Given the description of an element on the screen output the (x, y) to click on. 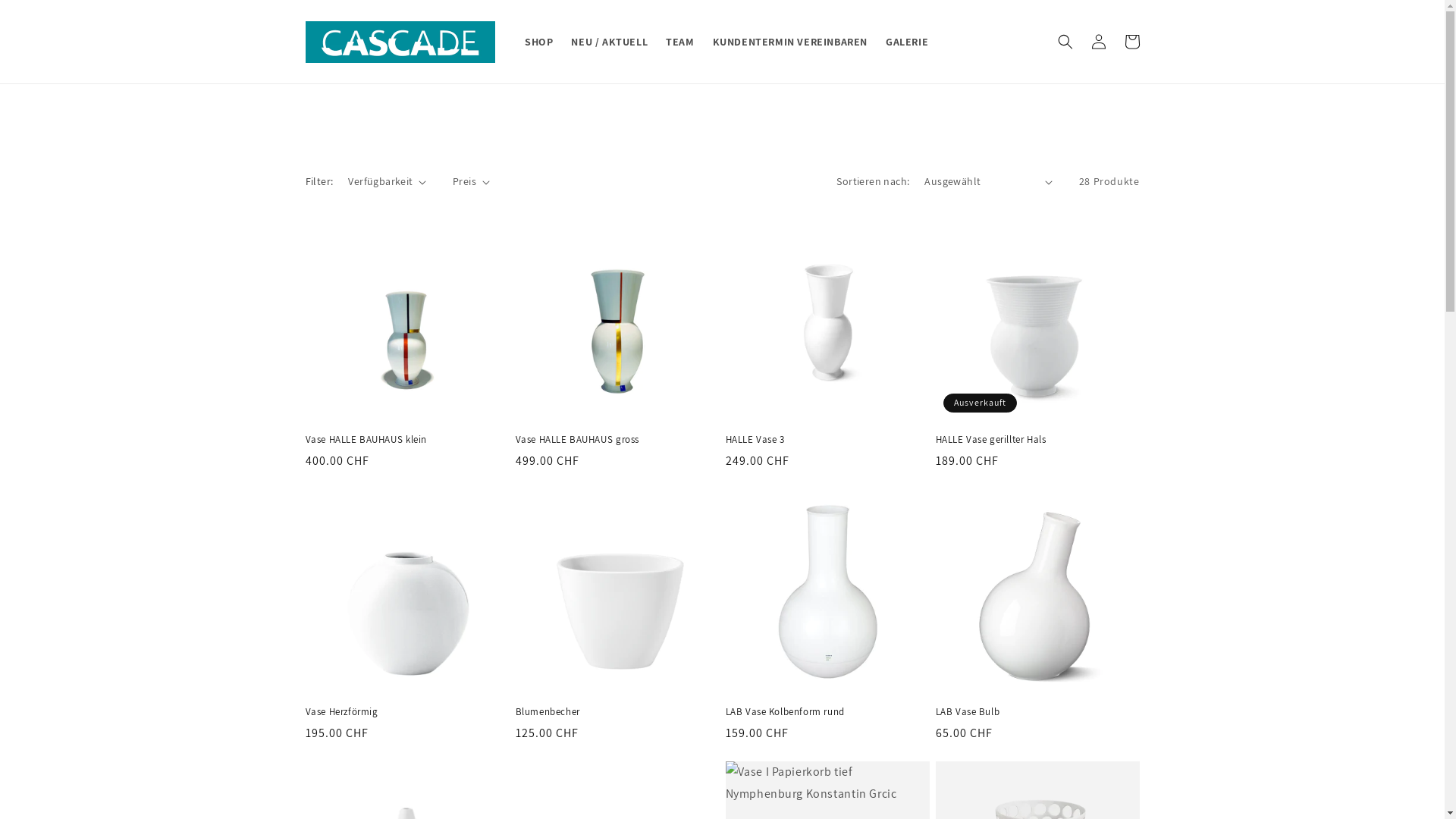
HALLE Vase gerillter Hals Element type: text (1037, 439)
TEAM Element type: text (679, 41)
Blumenbecher Element type: text (617, 712)
LAB Vase Kolbenform rund Element type: text (826, 712)
Warenkorb Element type: text (1131, 41)
GALERIE Element type: text (906, 41)
Einloggen Element type: text (1097, 41)
Vase HALLE BAUHAUS klein Element type: text (406, 439)
HALLE Vase 3 Element type: text (826, 439)
Vase HALLE BAUHAUS gross Element type: text (617, 439)
LAB Vase Bulb Element type: text (1037, 712)
SHOP Element type: text (538, 41)
KUNDENTERMIN VEREINBAREN Element type: text (789, 41)
NEU / AKTUELL Element type: text (608, 41)
